Given the description of an element on the screen output the (x, y) to click on. 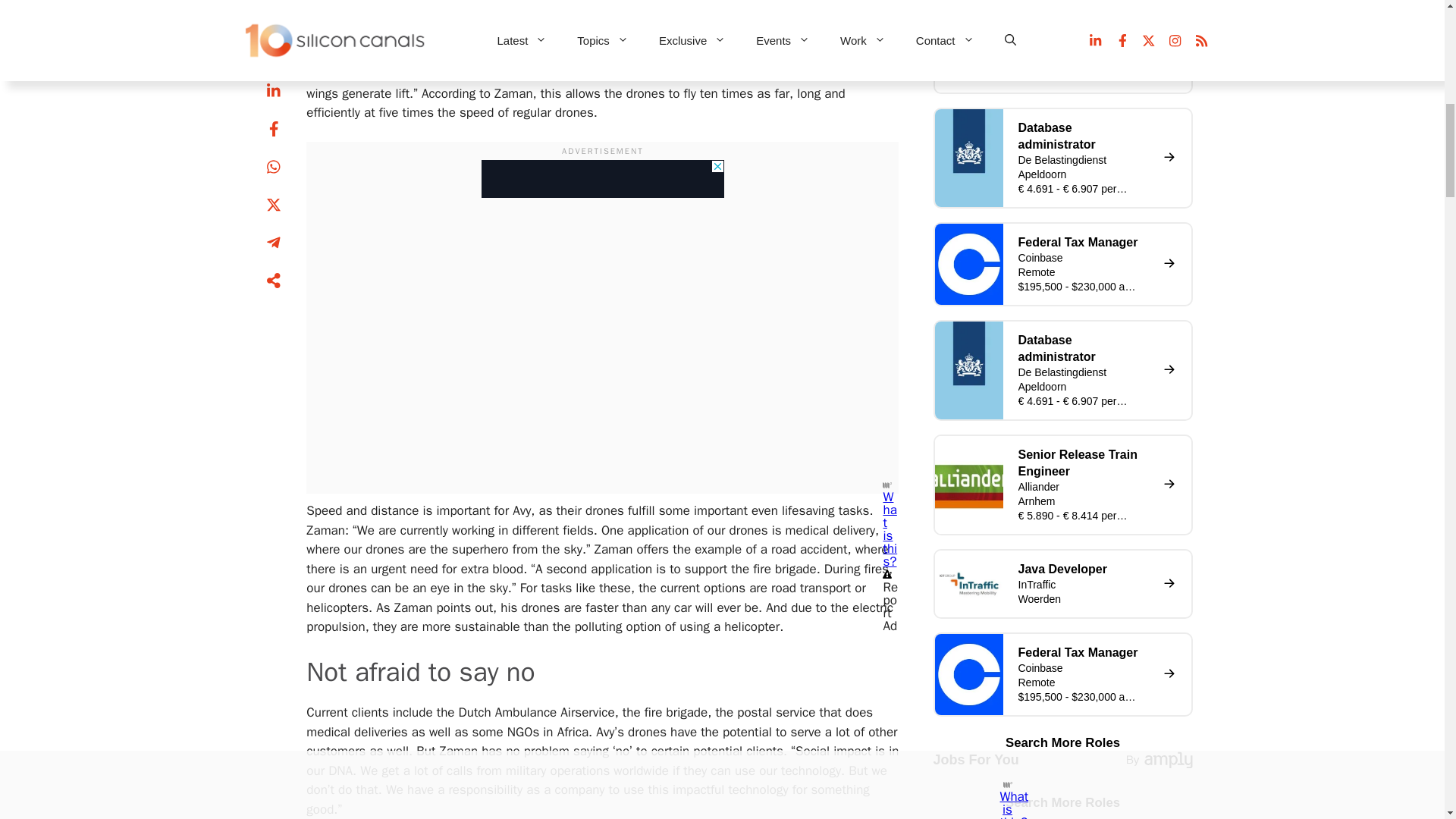
Scroll back to top (1406, 720)
3rd party ad content (602, 178)
